Given the description of an element on the screen output the (x, y) to click on. 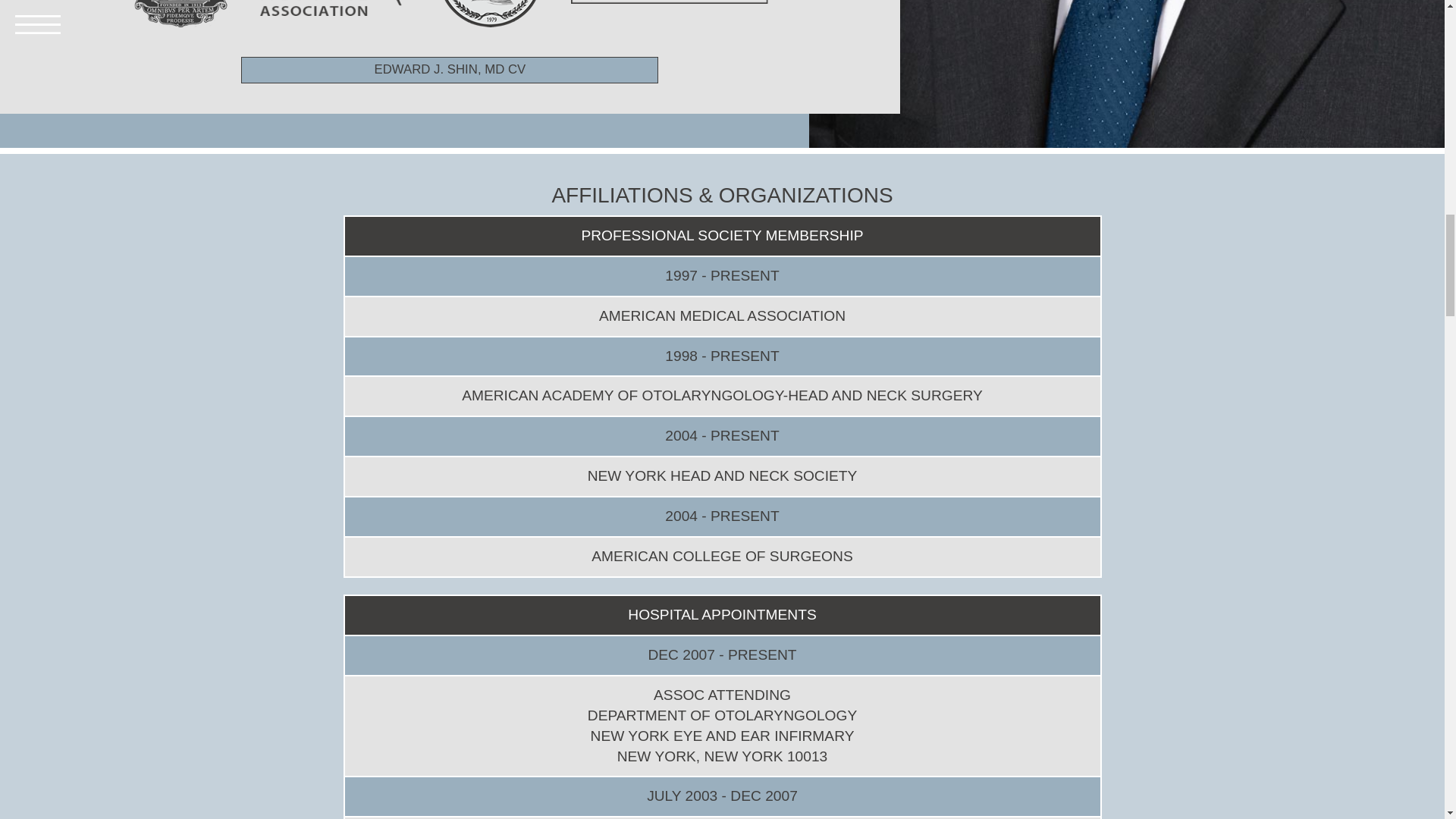
American Medical Association (334, 7)
American College Of Surgeons (181, 13)
